Given the description of an element on the screen output the (x, y) to click on. 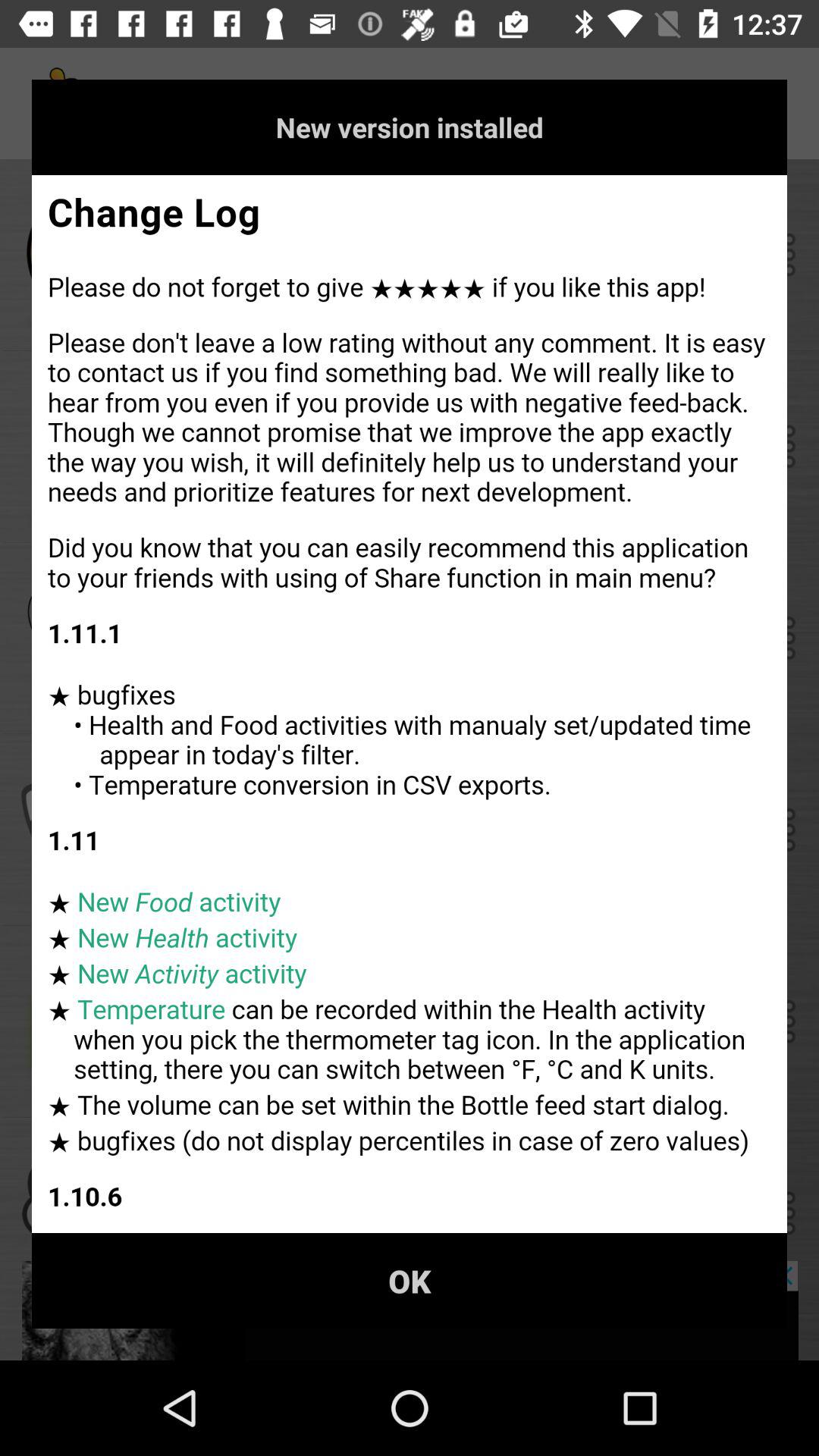
full text (409, 704)
